Given the description of an element on the screen output the (x, y) to click on. 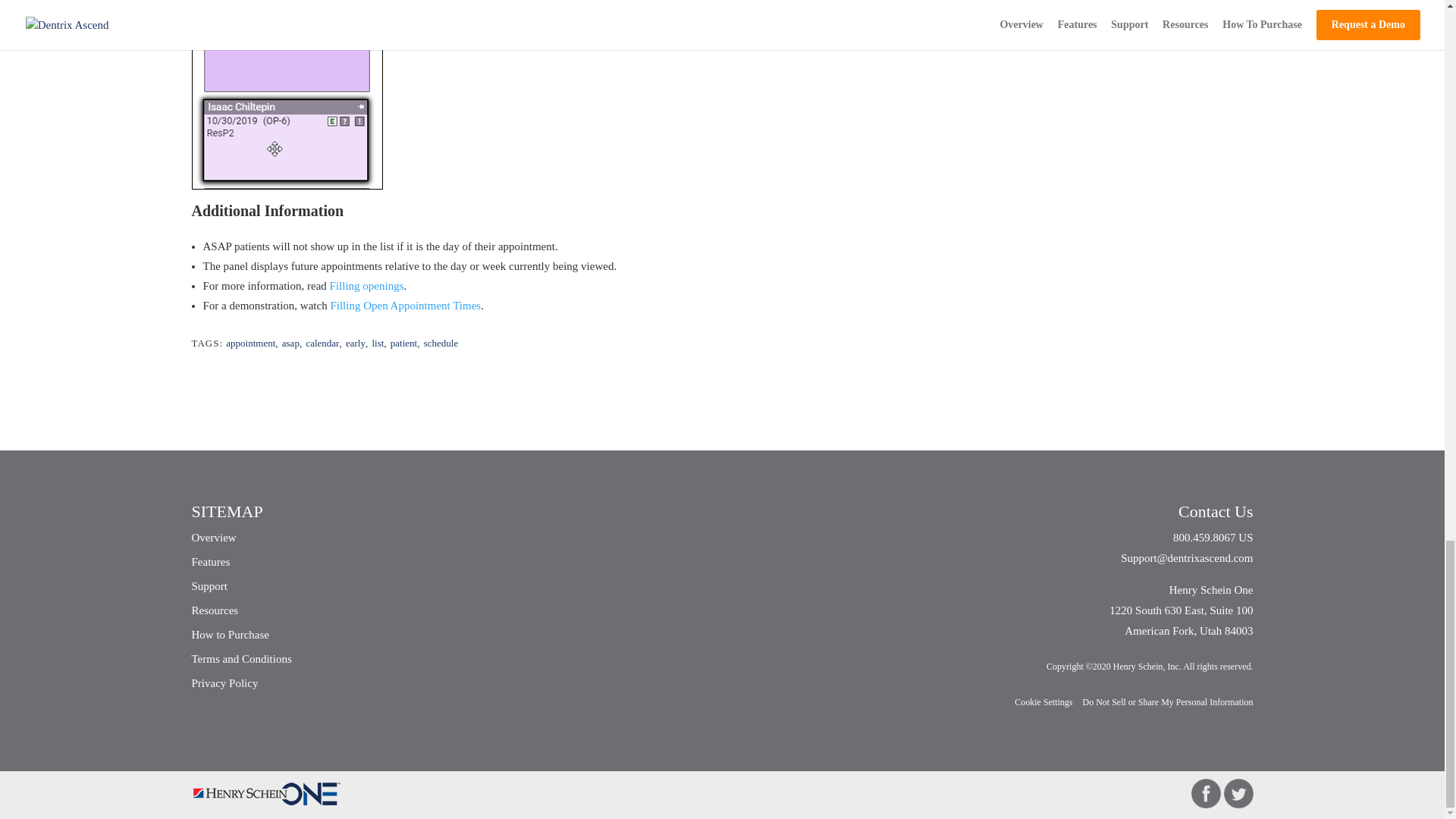
appointment (250, 342)
list (377, 342)
calendar (322, 342)
asap (290, 342)
patient (403, 342)
Filling Open Appointment Times (405, 305)
Filling openings (367, 285)
schedule (440, 342)
early (355, 342)
